Given the description of an element on the screen output the (x, y) to click on. 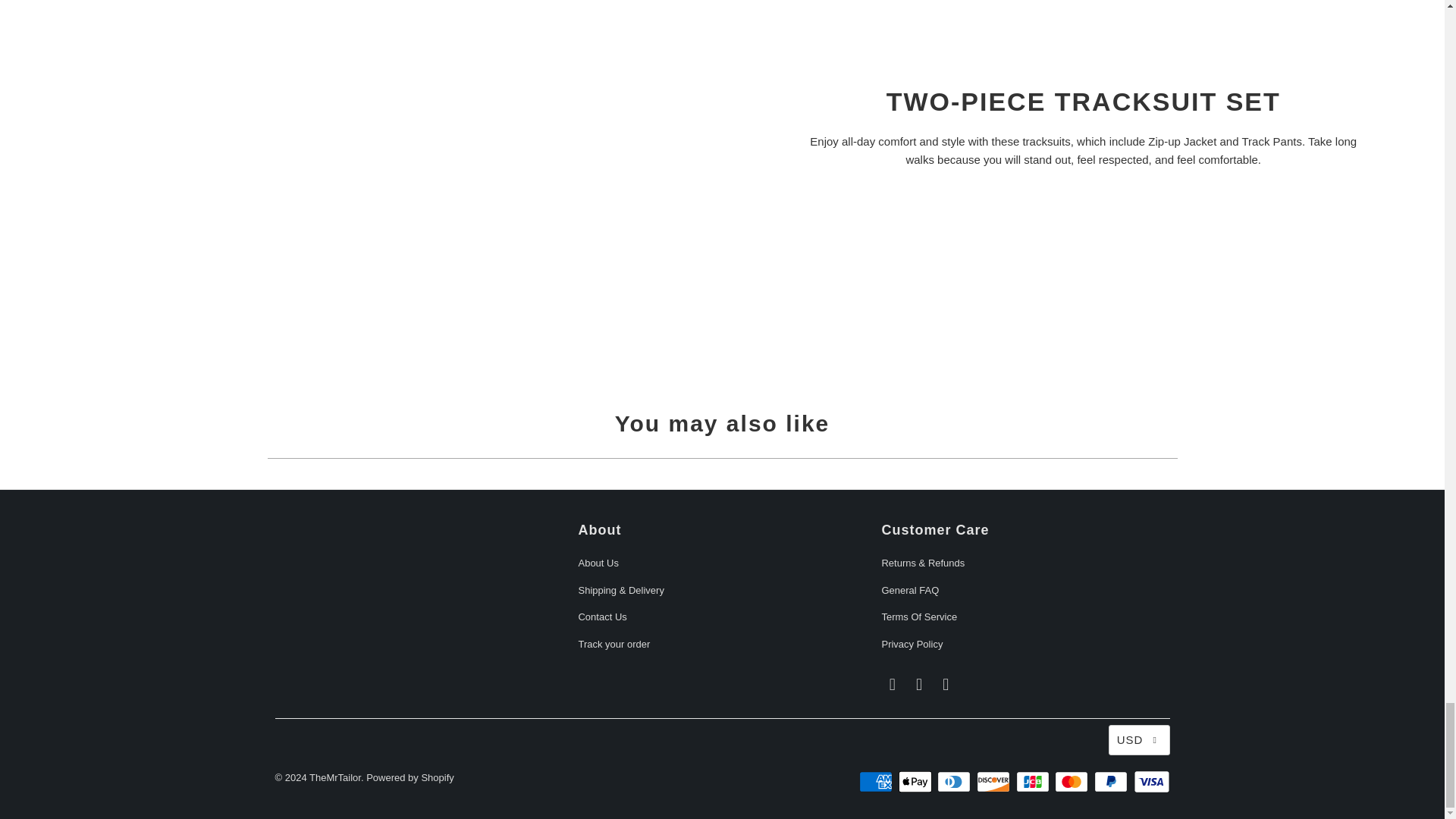
Diners Club (955, 781)
Apple Pay (916, 781)
TheMrTailor on Facebook (892, 684)
Discover (994, 781)
PayPal (1112, 781)
American Express (877, 781)
Visa (1150, 781)
Mastercard (1072, 781)
JCB (1034, 781)
